Given the description of an element on the screen output the (x, y) to click on. 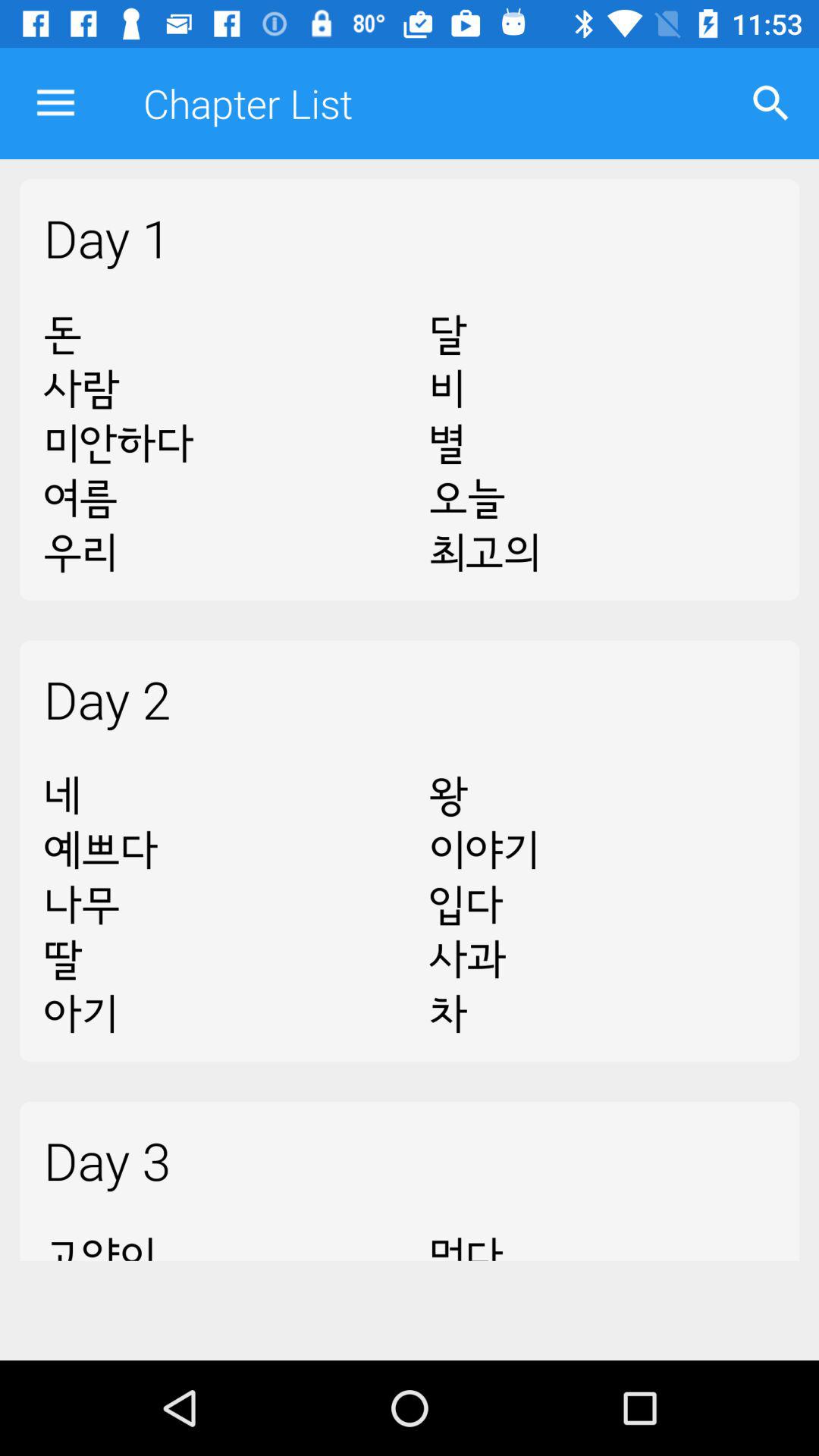
turn on item to the right of the chapter list icon (771, 103)
